Given the description of an element on the screen output the (x, y) to click on. 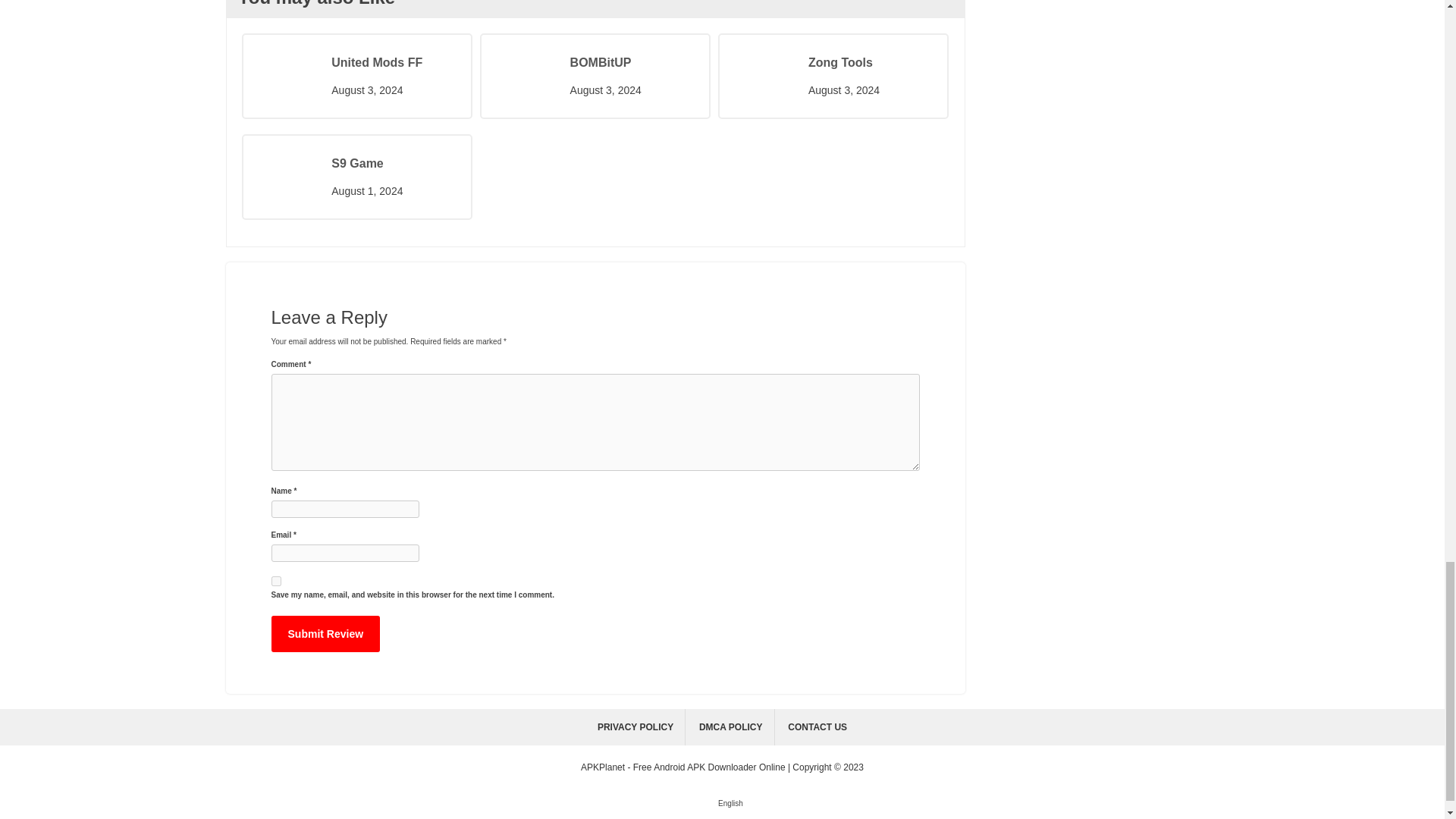
BOMBitUP (632, 63)
United Mods FF (393, 63)
Submit Review (325, 633)
yes (275, 581)
